Given the description of an element on the screen output the (x, y) to click on. 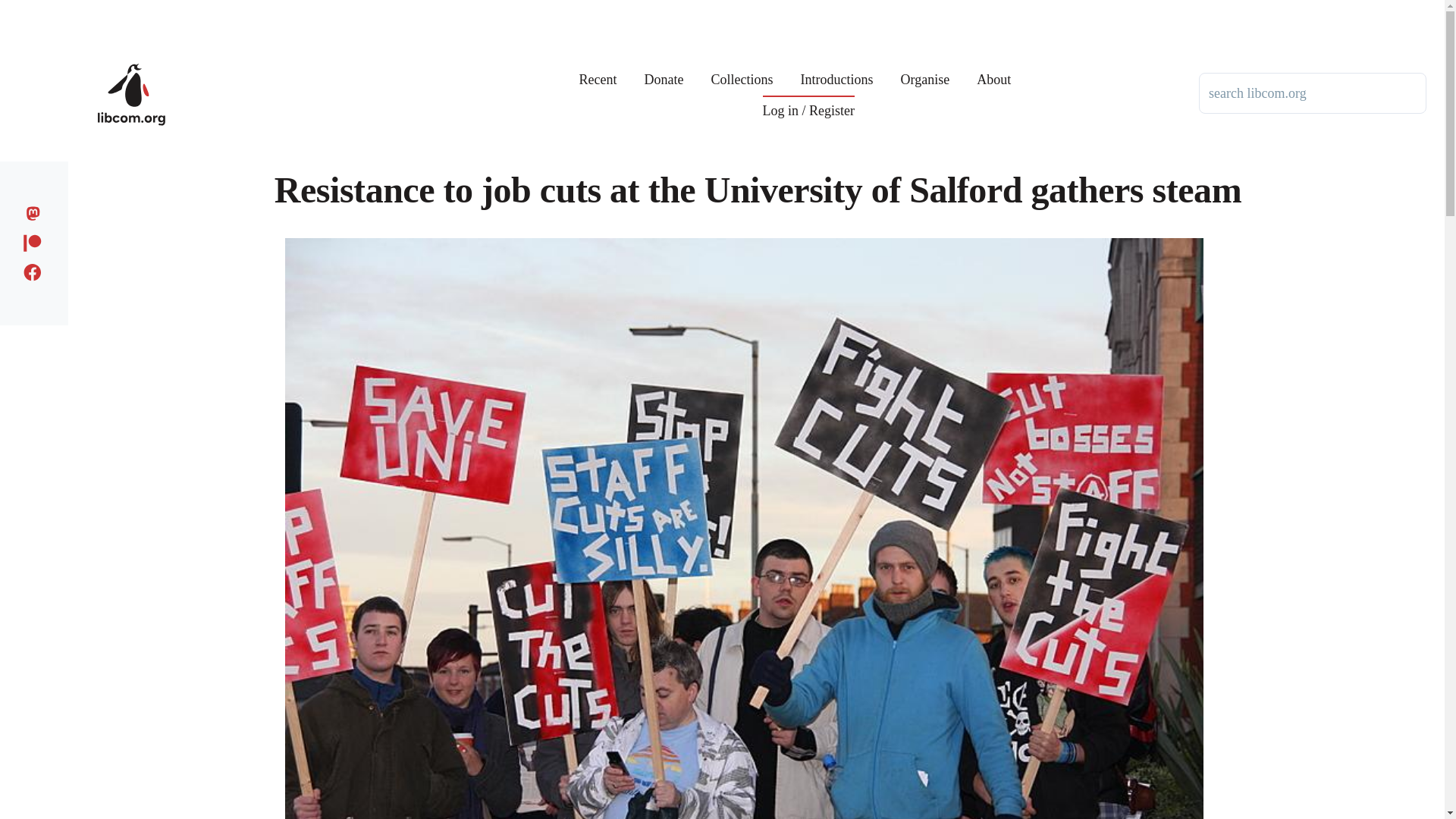
Organise (925, 68)
Support us on patreon (36, 239)
Introductions (836, 68)
Skip to main content (595, 6)
Follow us on Mastodon (36, 210)
Collections (742, 68)
Like us on facebook (36, 269)
